Given the description of an element on the screen output the (x, y) to click on. 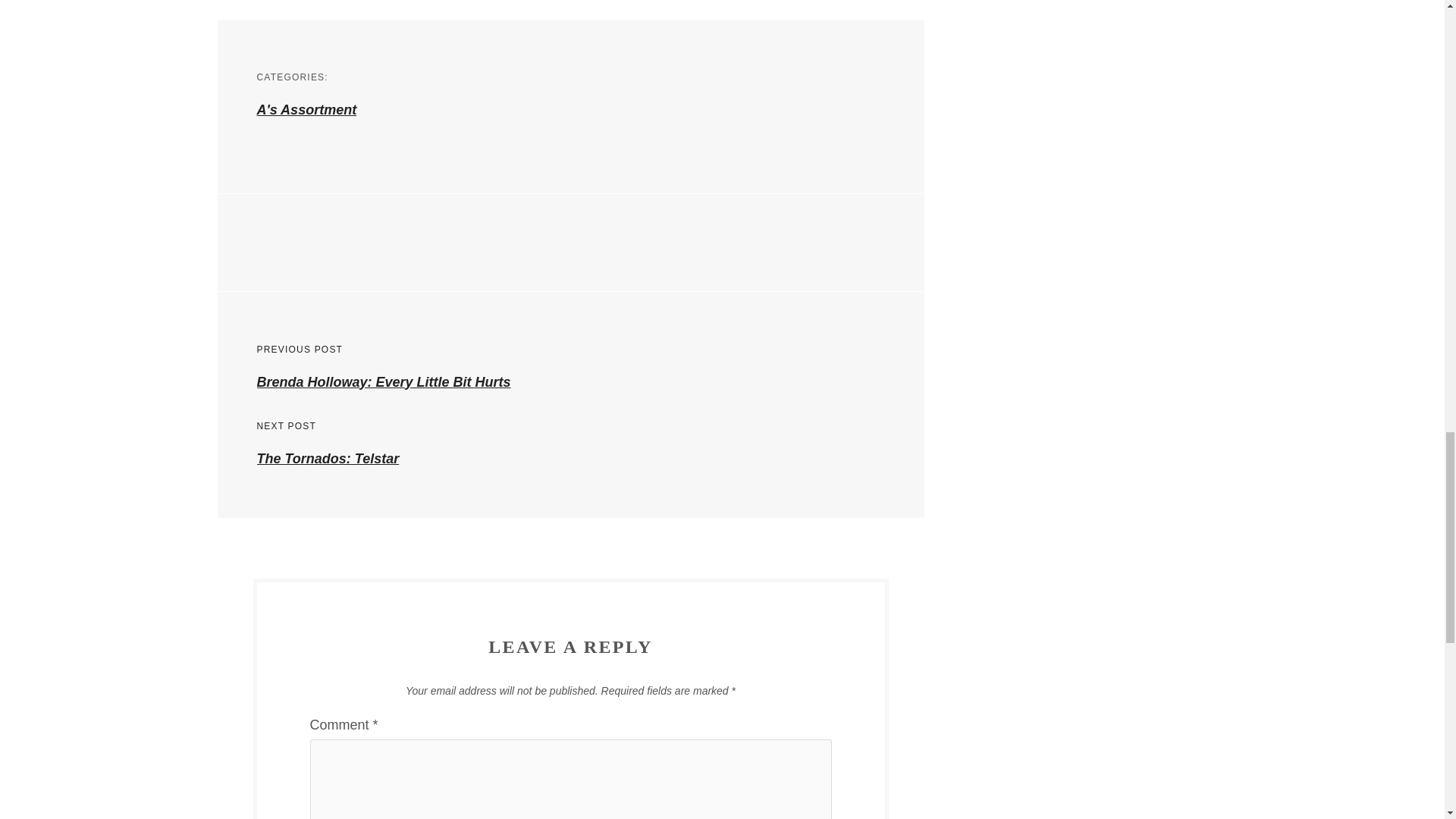
A's Assortment (306, 109)
